Given the description of an element on the screen output the (x, y) to click on. 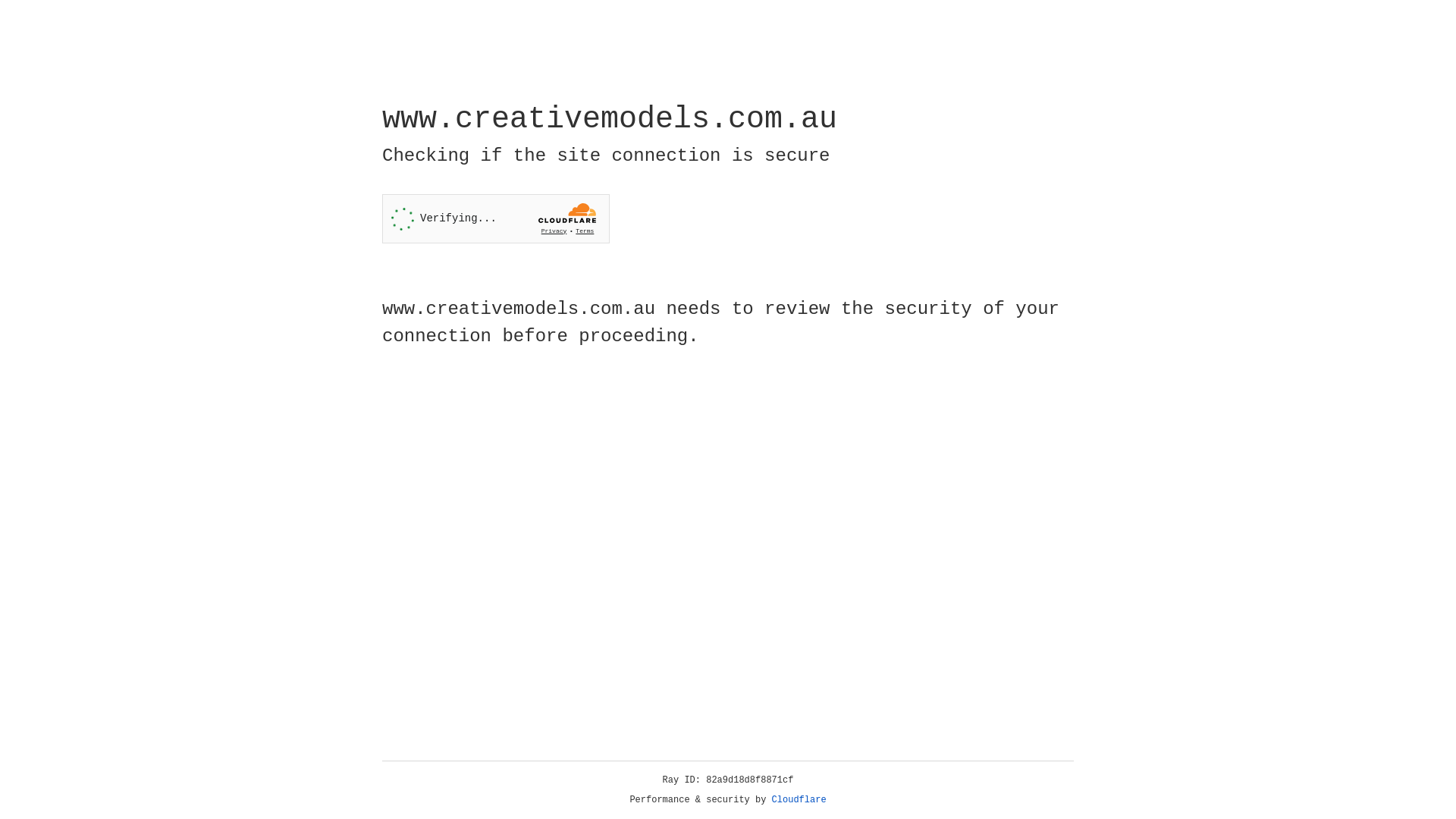
Cloudflare Element type: text (798, 799)
Widget containing a Cloudflare security challenge Element type: hover (495, 218)
